Given the description of an element on the screen output the (x, y) to click on. 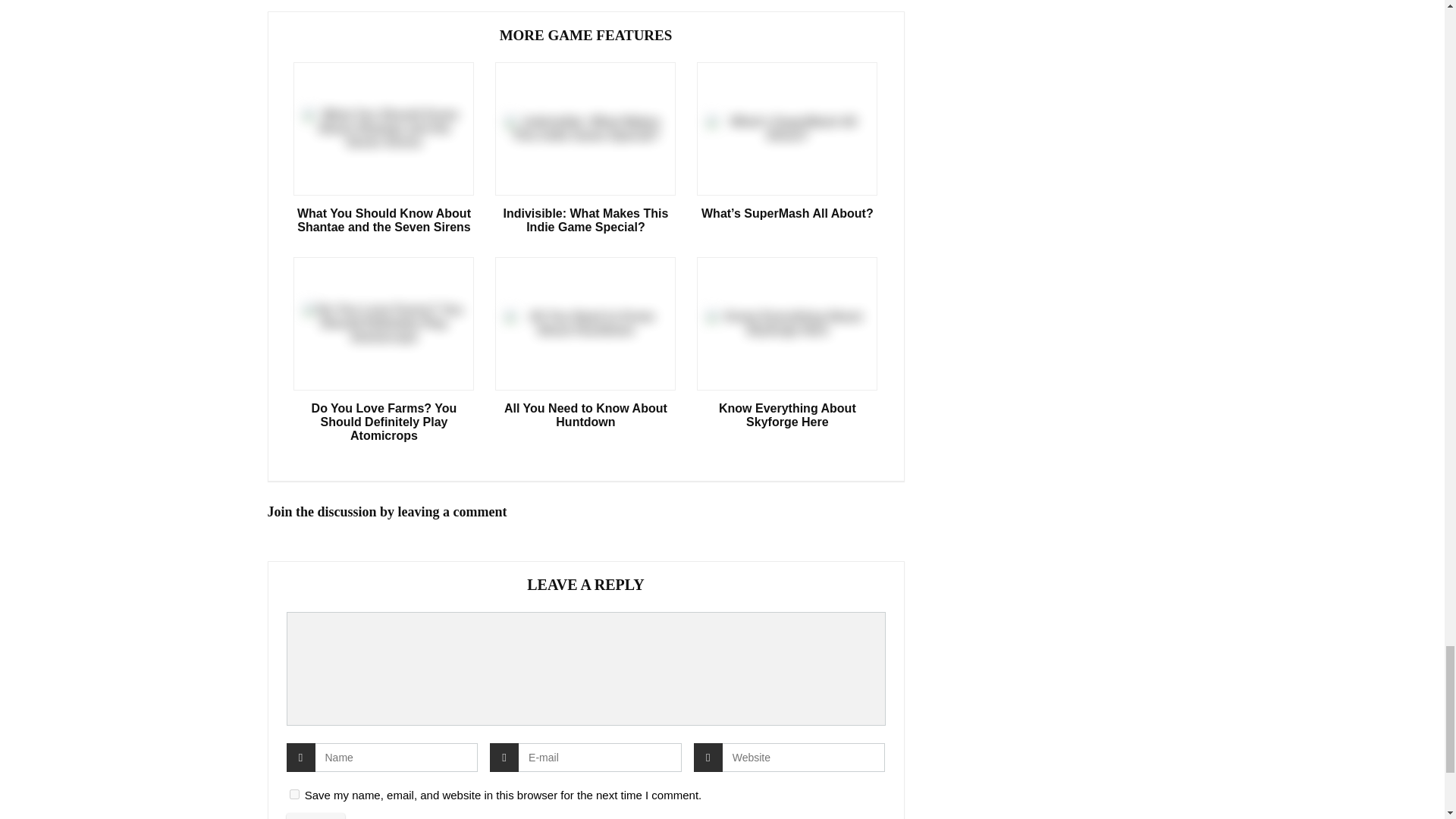
Do You Love Farms? You Should Definitely Play Atomicrops (384, 422)
Submit (316, 816)
Know Everything About Skyforge Here (787, 415)
What You Should Know About Shantae and the Seven Sirens (384, 220)
What You Should Know About Shantae and the Seven Sirens (384, 220)
Submit (316, 816)
Know Everything About Skyforge Here (787, 415)
Indivisible: What Makes This Indie Game Special? (585, 220)
All You Need to Know About Huntdown (585, 415)
Indivisible: What Makes This Indie Game Special? (585, 220)
All You Need to Know About Huntdown (585, 415)
Do You Love Farms? You Should Definitely Play Atomicrops (384, 422)
yes (294, 794)
